Given the description of an element on the screen output the (x, y) to click on. 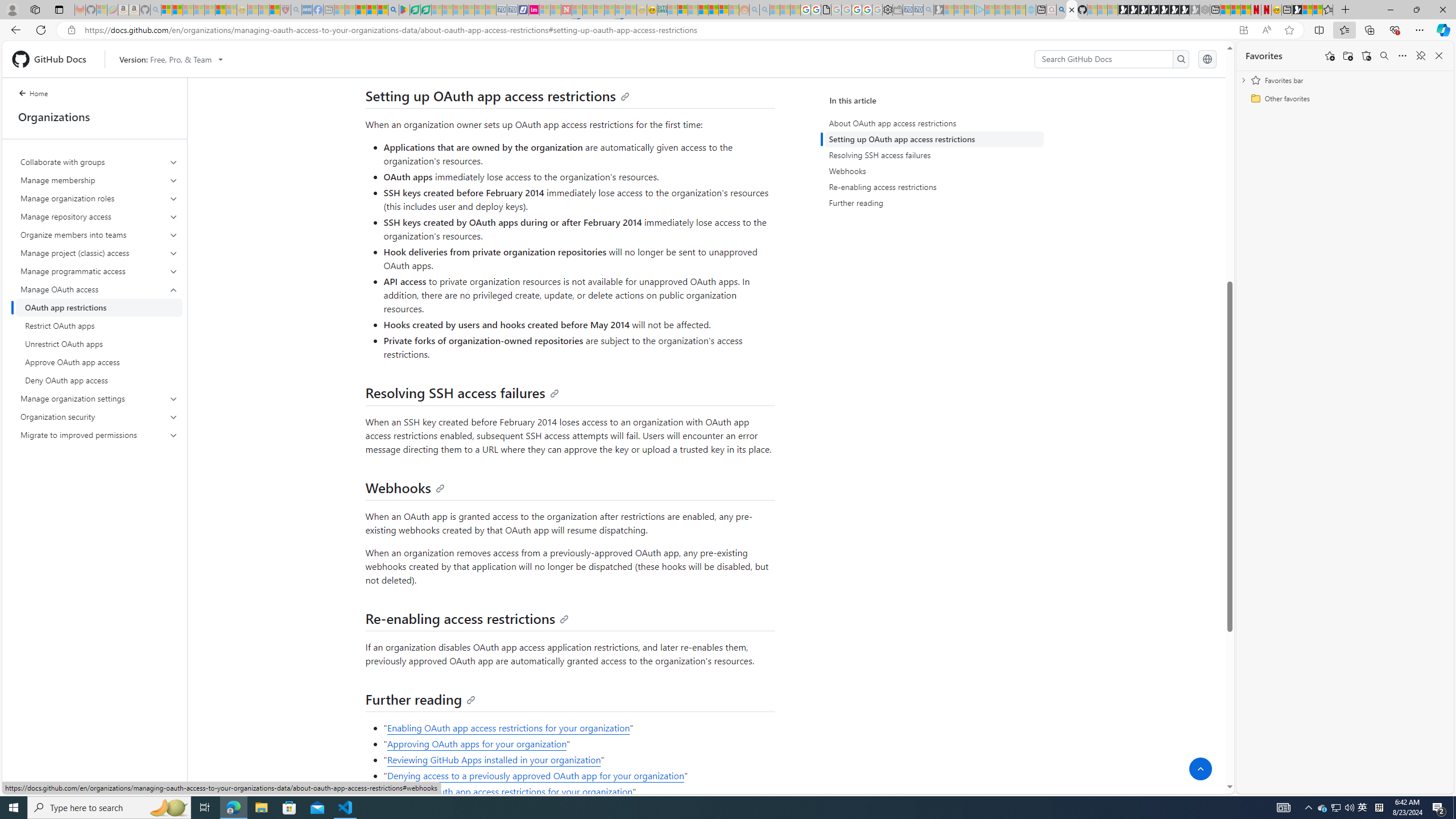
Organizations (94, 116)
Approve OAuth app access (99, 361)
Manage repository access (99, 216)
Resolving SSH access failures (462, 392)
